Given the description of an element on the screen output the (x, y) to click on. 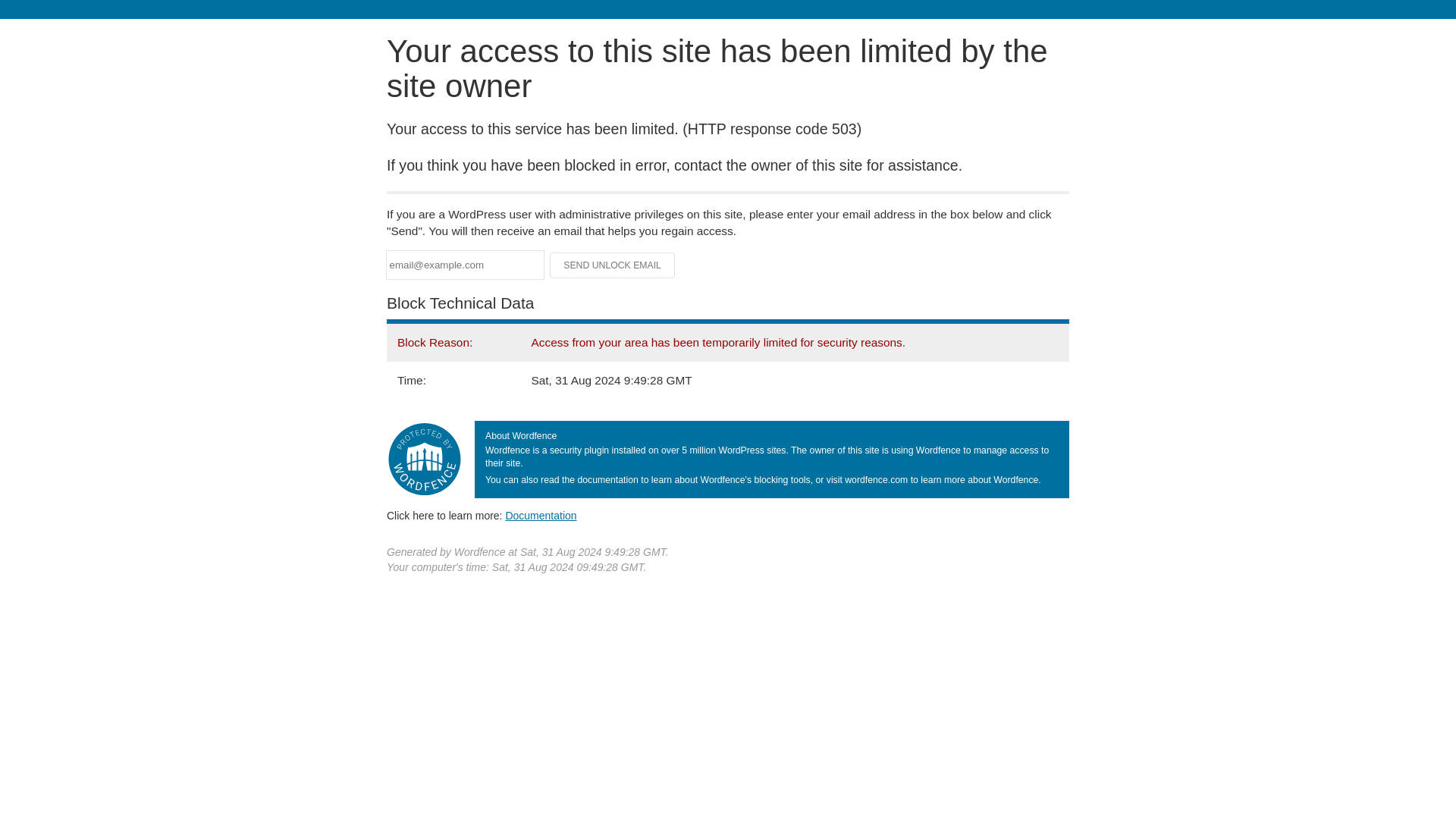
Send Unlock Email (612, 265)
Documentation (540, 515)
Send Unlock Email (612, 265)
